Given the description of an element on the screen output the (x, y) to click on. 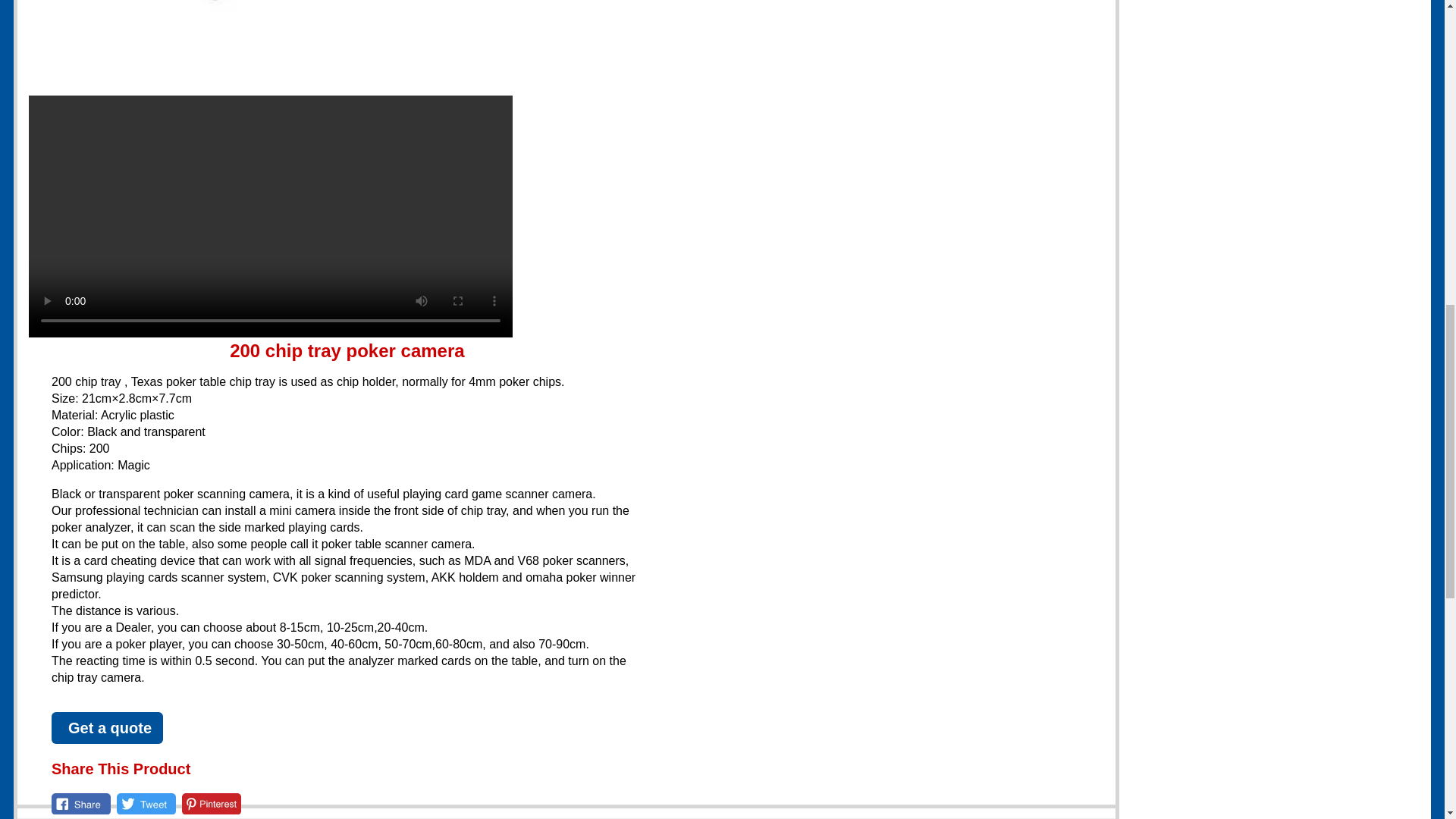
Share on Facebook (80, 803)
Share on Twitter (146, 803)
200 chip rack poker scanning camera system (270, 216)
Share on Pinterest (211, 803)
200 chip rack poker predictor (270, 42)
